Given the description of an element on the screen output the (x, y) to click on. 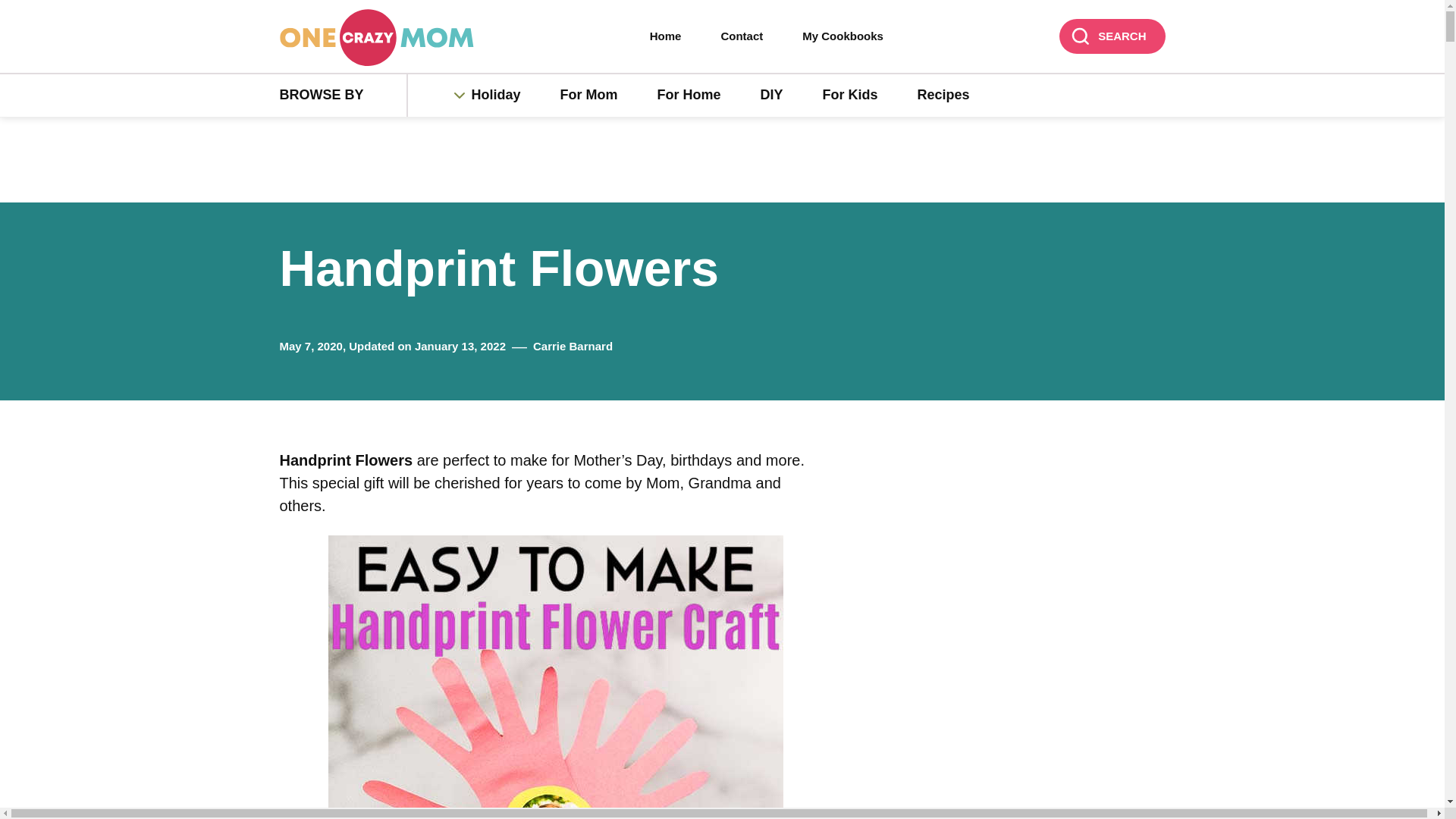
Holiday (504, 95)
One Crazy Mom (376, 37)
For Kids (850, 95)
Carrie Barnard (572, 345)
Recipes (944, 95)
DIY (772, 95)
Home (665, 36)
SEARCH (1111, 36)
BROWSE BY (342, 95)
Contact (741, 36)
For Mom (588, 95)
For Home (689, 95)
My Cookbooks (842, 36)
